Given the description of an element on the screen output the (x, y) to click on. 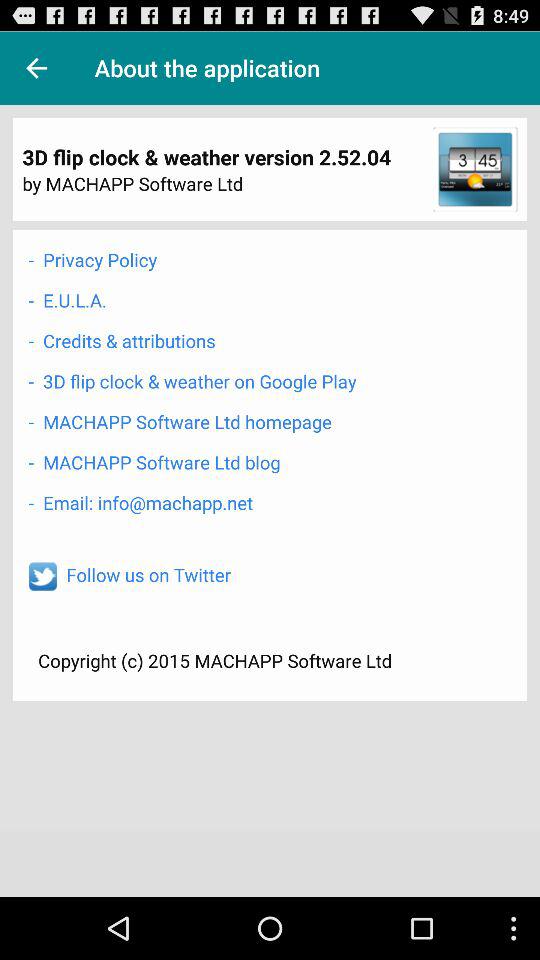
choose the item below machapp software ltd item (140, 502)
